Given the description of an element on the screen output the (x, y) to click on. 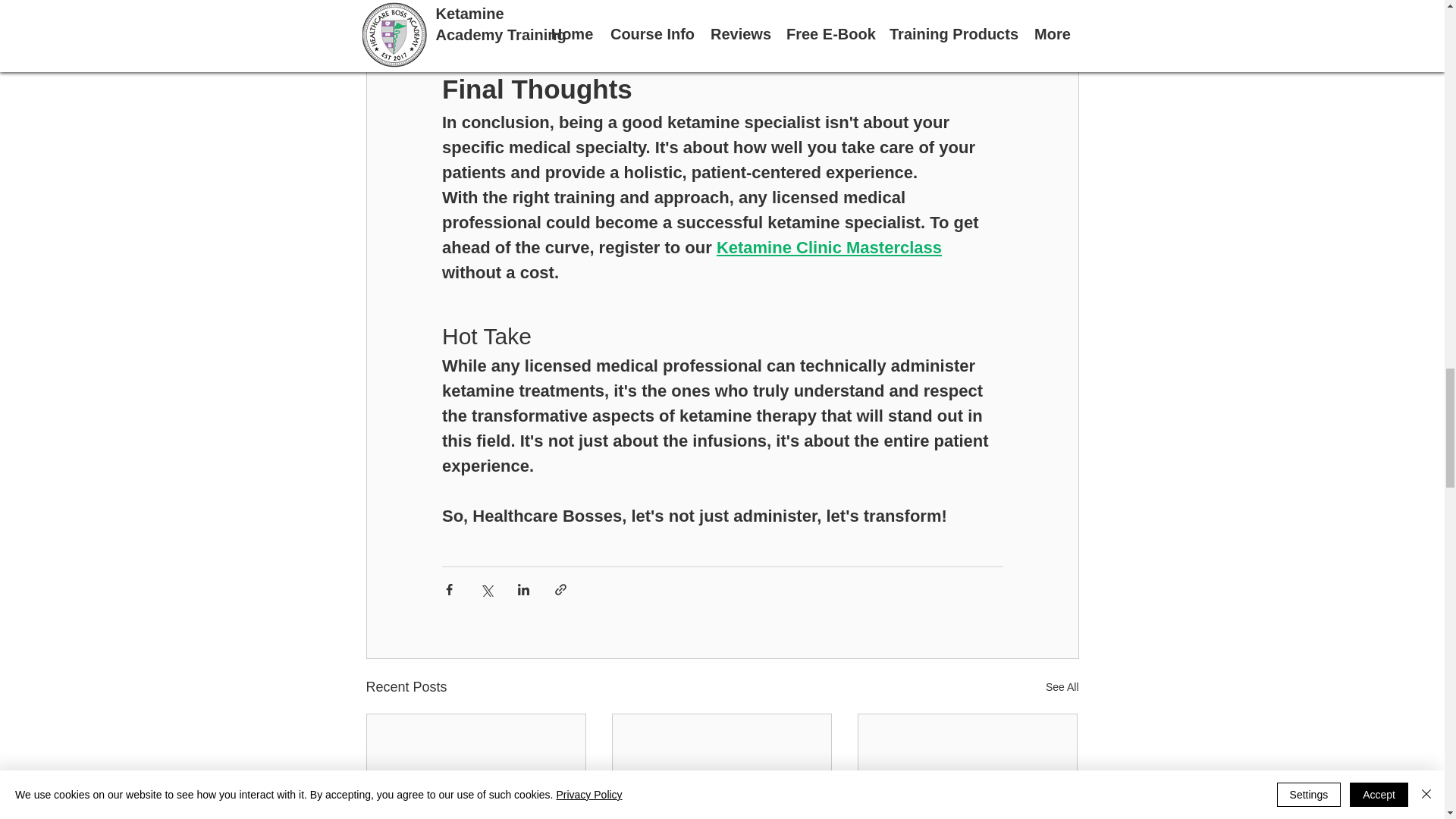
Ketamine Clinic Masterclass (828, 247)
See All (1061, 687)
